Given the description of an element on the screen output the (x, y) to click on. 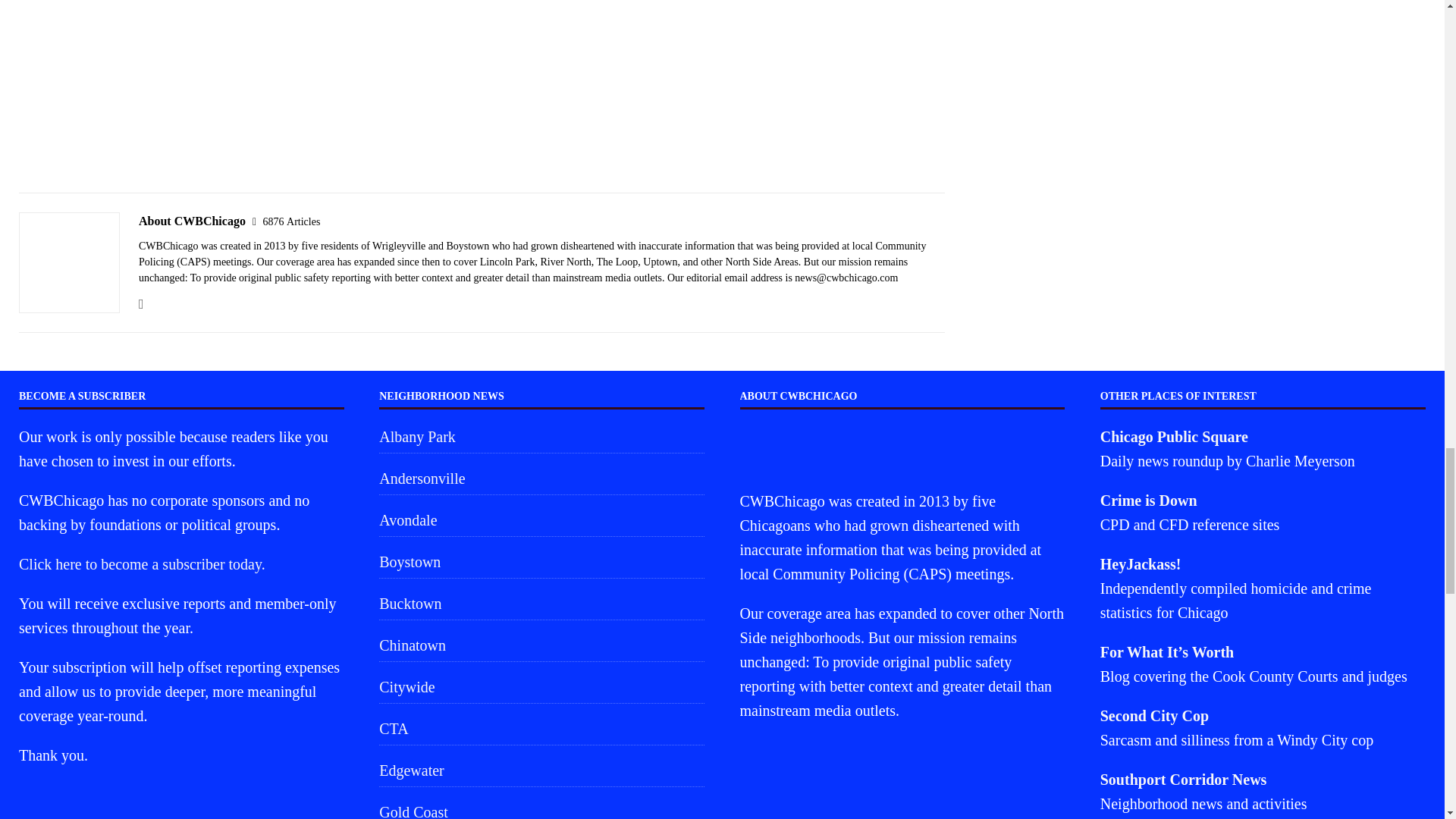
Chinatown (541, 644)
Avondale (541, 520)
Visit the website of CWBChicago (141, 304)
6876 Articles (291, 221)
Citywide (541, 686)
Bucktown (541, 603)
Boystown (541, 562)
More articles written by CWBChicago' (291, 221)
CTA (541, 728)
Click here to become a subscriber today. (141, 564)
Andersonville (541, 478)
Albany Park (541, 438)
